Given the description of an element on the screen output the (x, y) to click on. 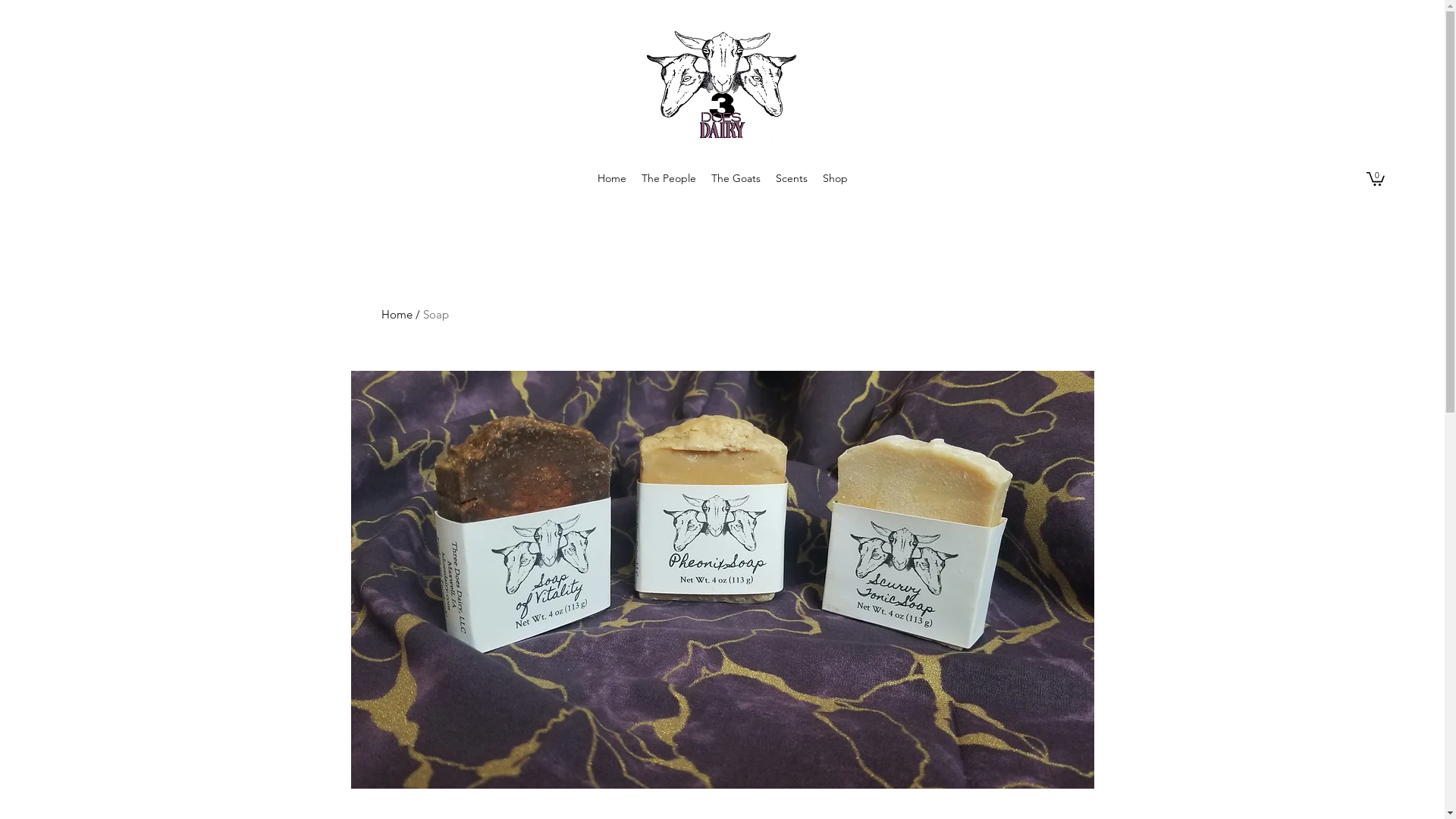
Home Element type: text (395, 314)
The People Element type: text (668, 178)
The Goats Element type: text (735, 178)
Home Element type: text (611, 178)
Soap Element type: text (435, 314)
Shop Element type: text (834, 178)
Scents Element type: text (790, 178)
0 Element type: text (1375, 177)
